Given the description of an element on the screen output the (x, y) to click on. 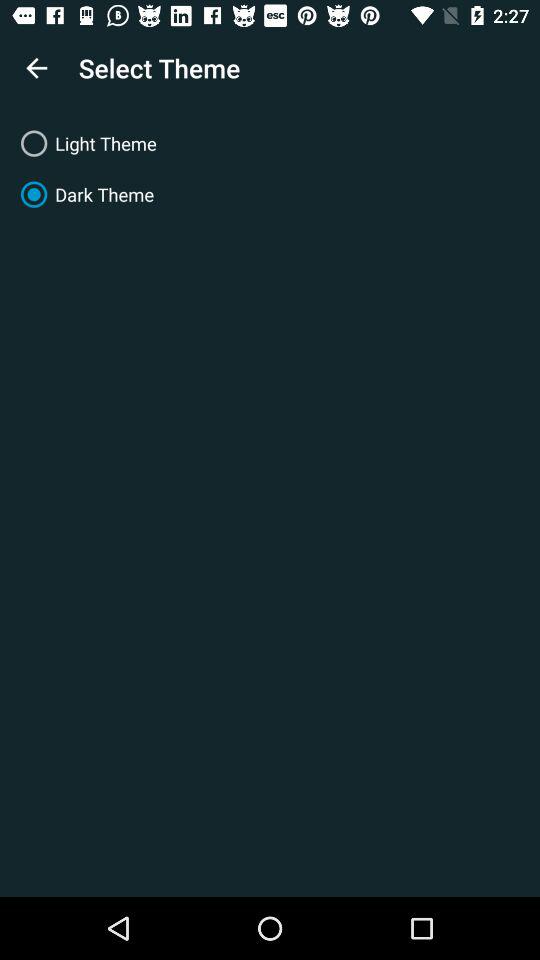
choose the light theme item (269, 143)
